Given the description of an element on the screen output the (x, y) to click on. 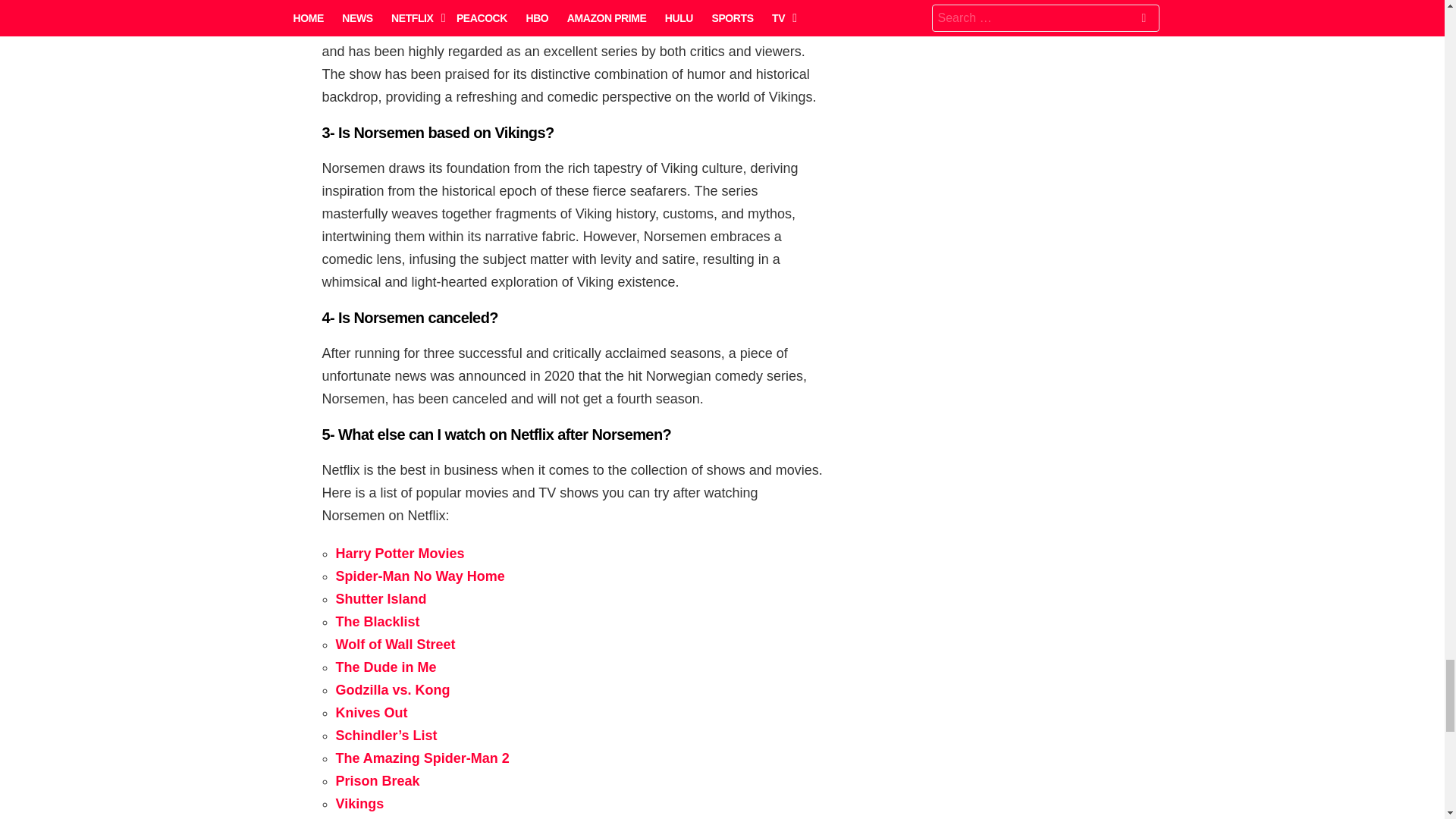
The Dude in Me (384, 667)
Spider-Man No Way Home (418, 575)
Wolf of Wall Street (394, 644)
Harry Potter Movies (399, 553)
The Blacklist  (378, 621)
Shutter Island (380, 598)
